Given the description of an element on the screen output the (x, y) to click on. 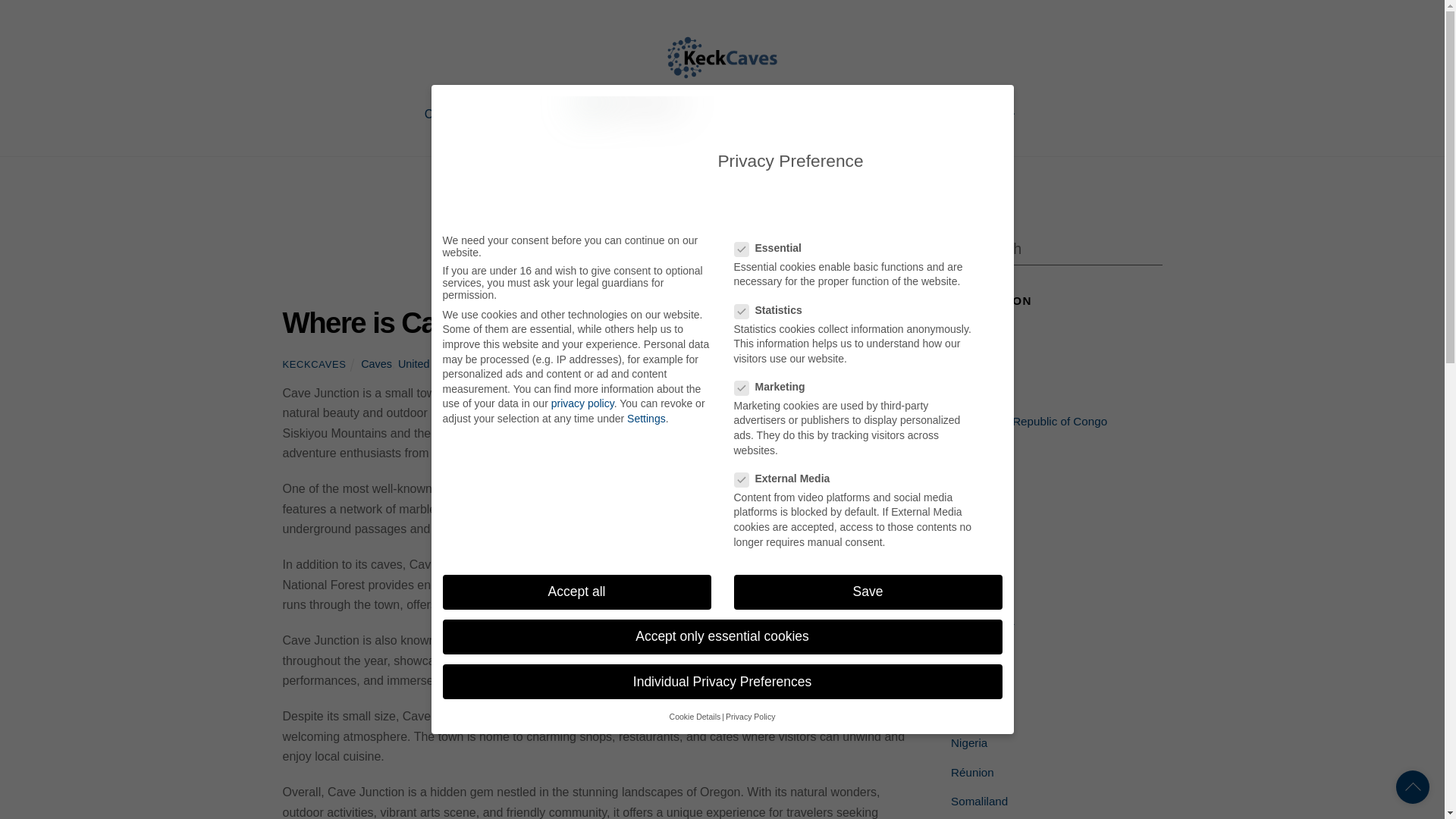
Caves (967, 333)
Active Visualization (669, 114)
KECKCAVES (314, 364)
Caves (376, 363)
Search (1055, 248)
Logo (721, 57)
United States of America (457, 363)
Algeria (968, 362)
English (984, 114)
Caves (456, 114)
Geology (529, 114)
English (984, 114)
Keck Cave (721, 73)
Science (761, 114)
